Given the description of an element on the screen output the (x, y) to click on. 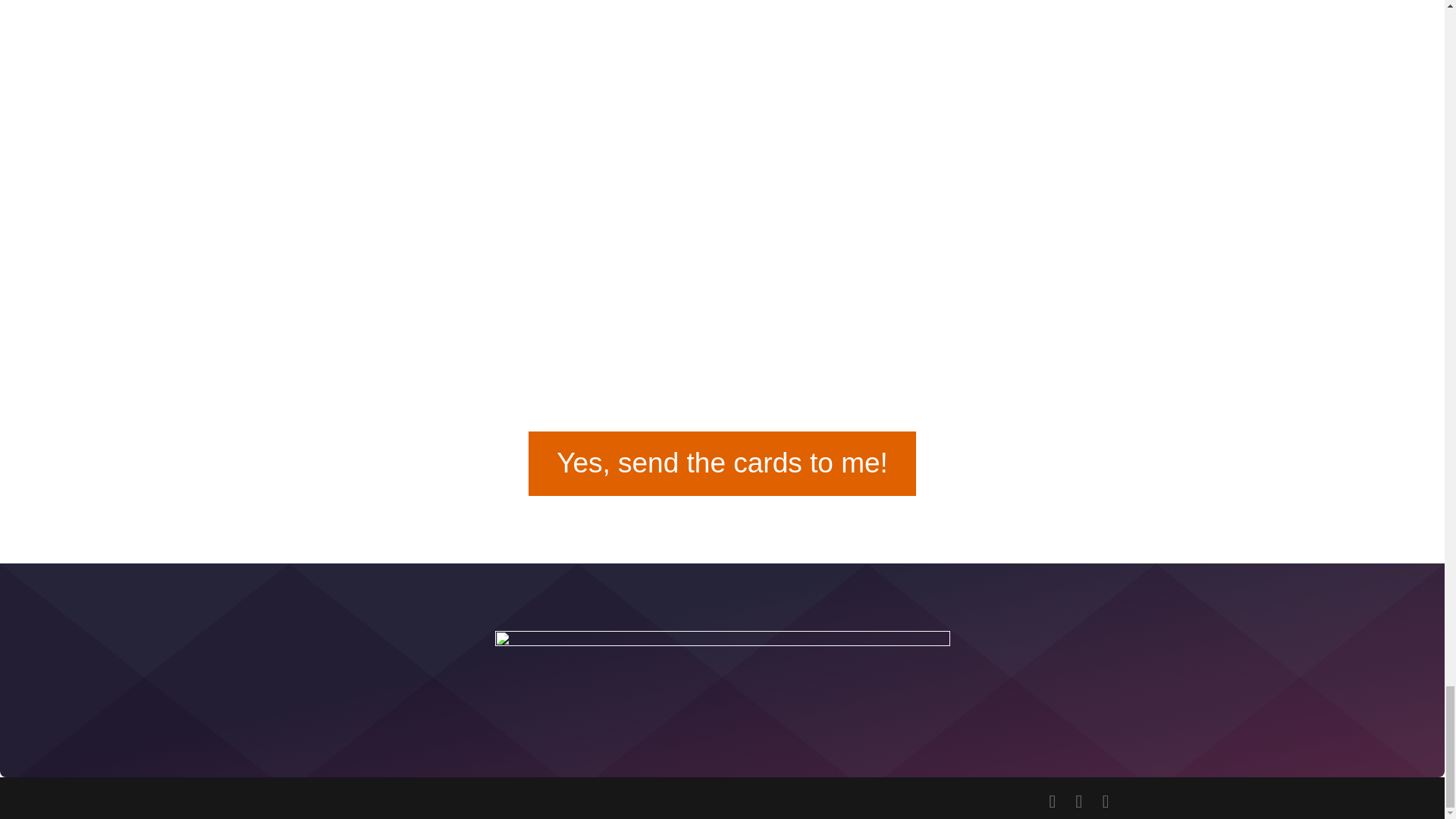
Yes, send the cards to me! (721, 463)
